Given the description of an element on the screen output the (x, y) to click on. 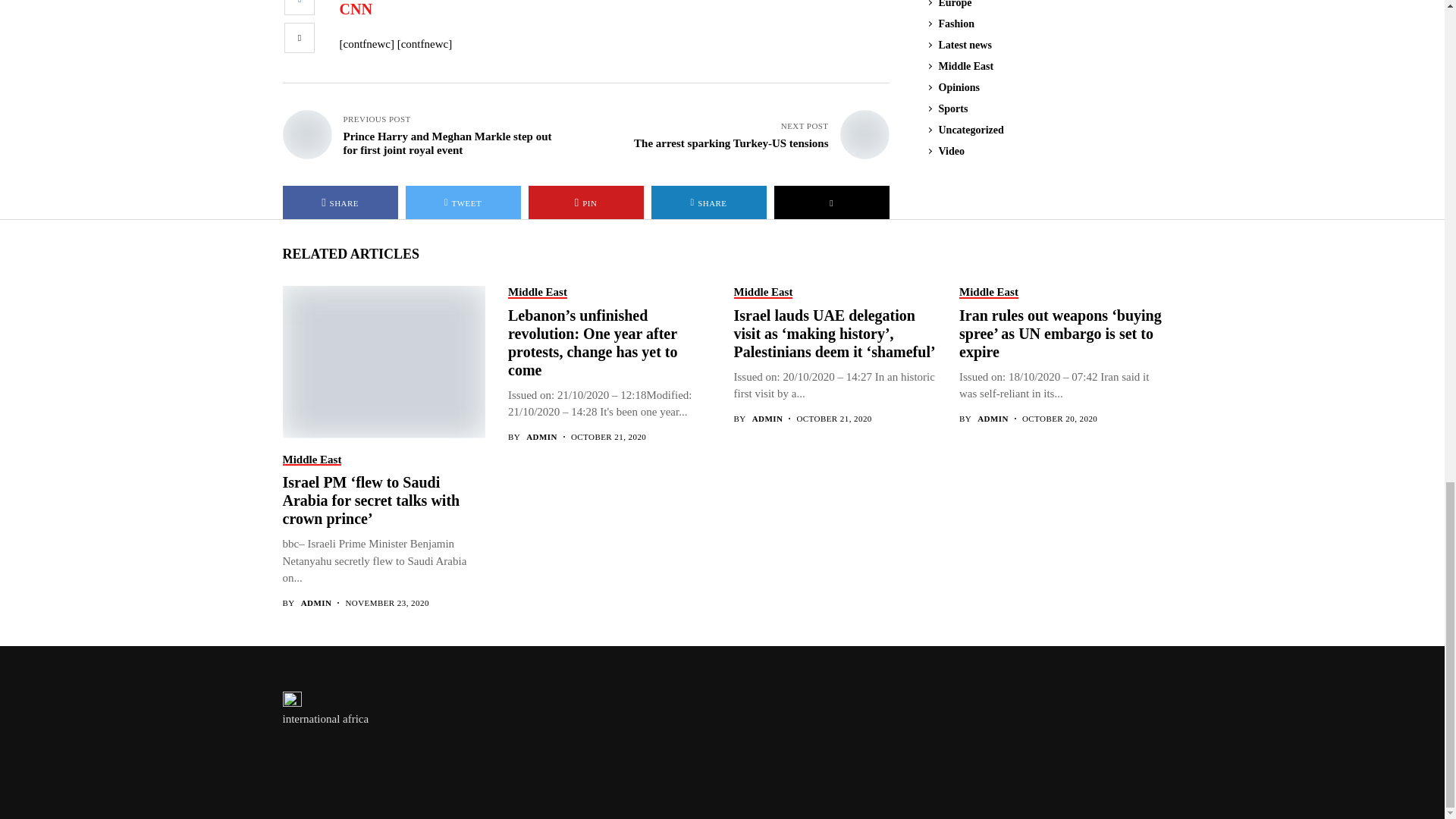
Posts by admin (316, 603)
Posts by admin (541, 437)
Posts by admin (992, 419)
Posts by admin (767, 419)
